Given the description of an element on the screen output the (x, y) to click on. 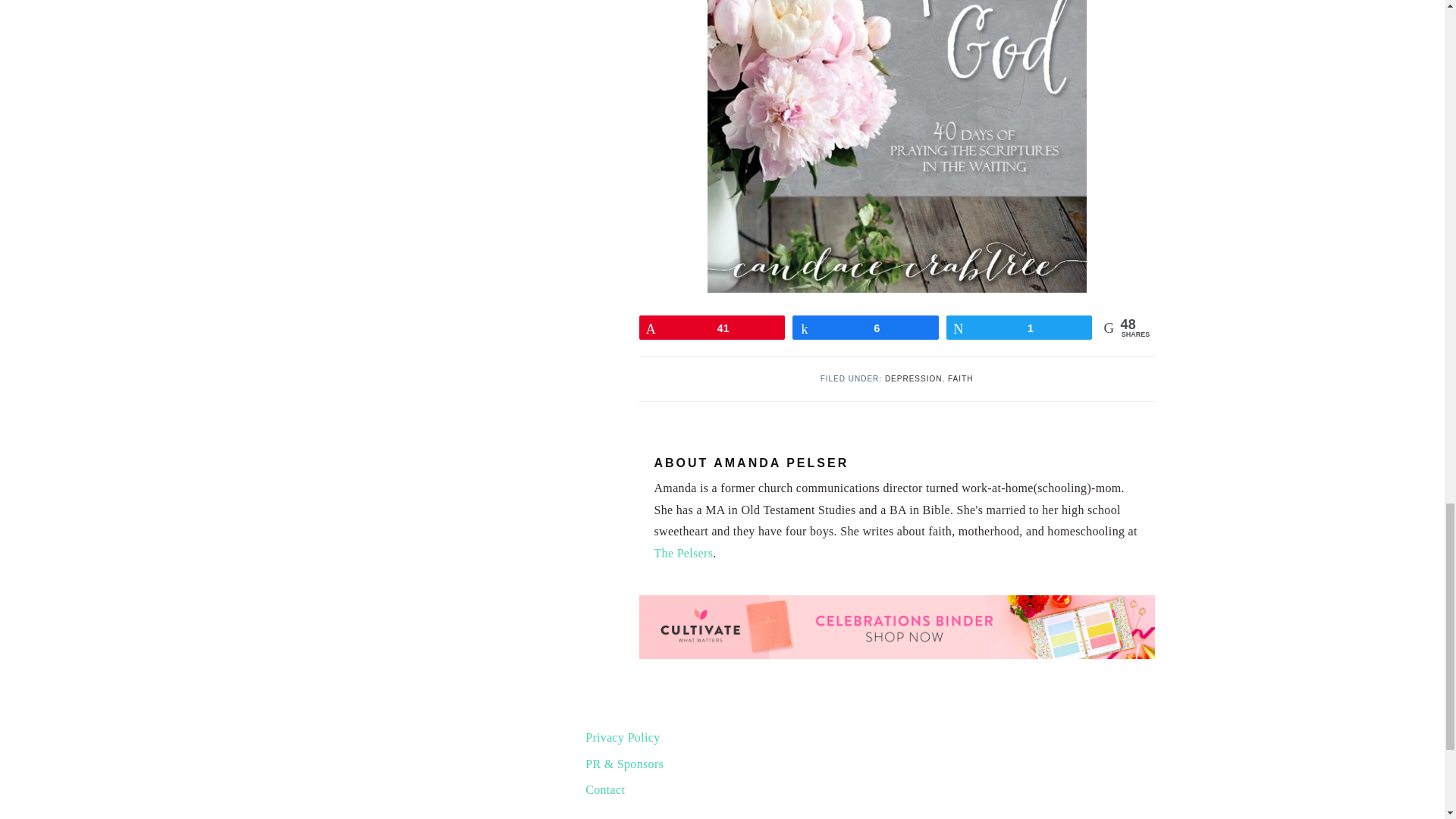
6 (865, 327)
The Pelsers (683, 553)
FAITH (959, 378)
DEPRESSION (913, 378)
1 (1019, 327)
41 (712, 327)
